Given the description of an element on the screen output the (x, y) to click on. 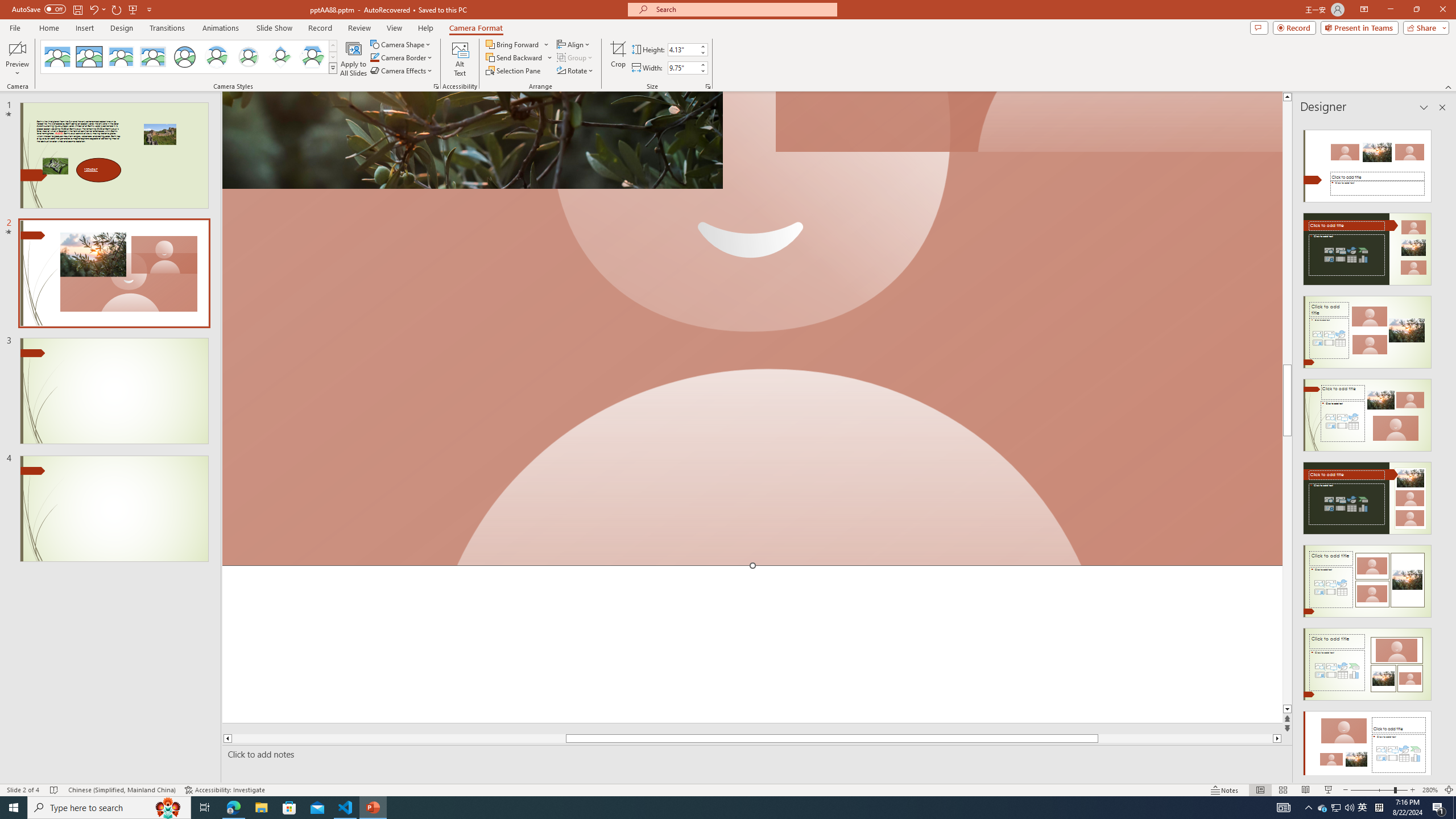
Camera Effects (402, 69)
Center Shadow Hexagon (312, 56)
Camera 7, No camera detected. (1028, 122)
Camera Styles (333, 67)
